Given the description of an element on the screen output the (x, y) to click on. 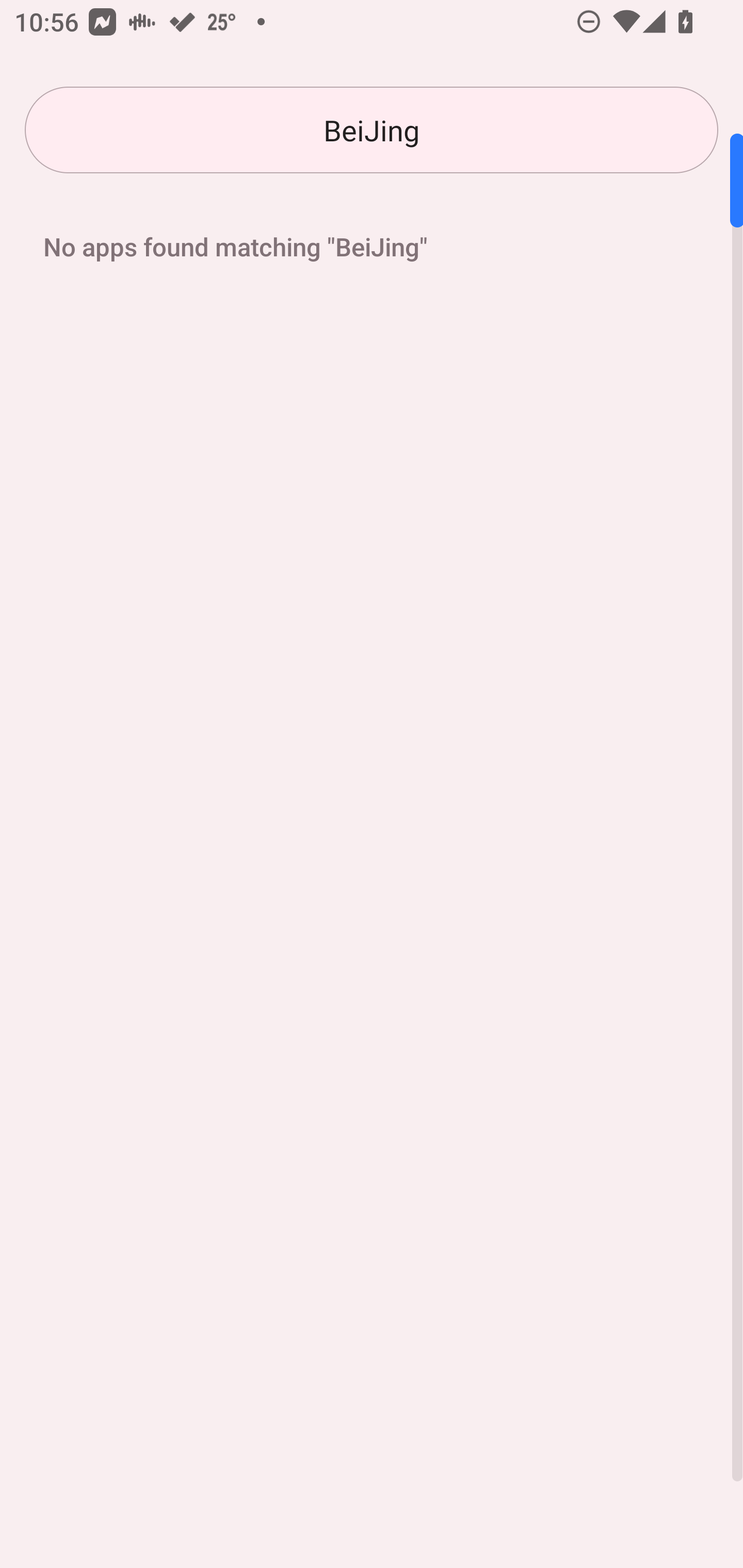
BeiJing (371, 130)
